Given the description of an element on the screen output the (x, y) to click on. 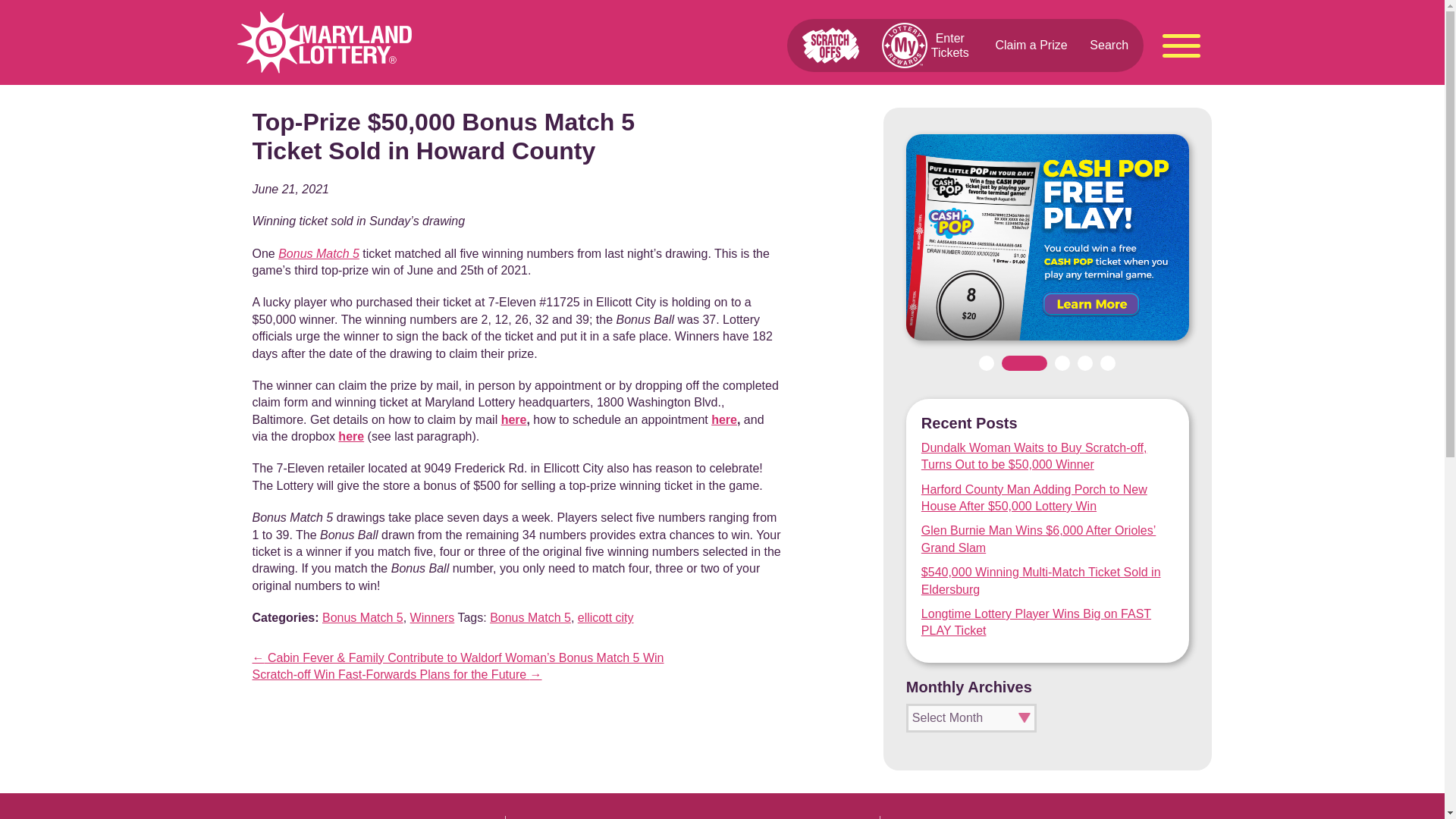
Search (1108, 44)
Claim a Prize (1030, 44)
